Given the description of an element on the screen output the (x, y) to click on. 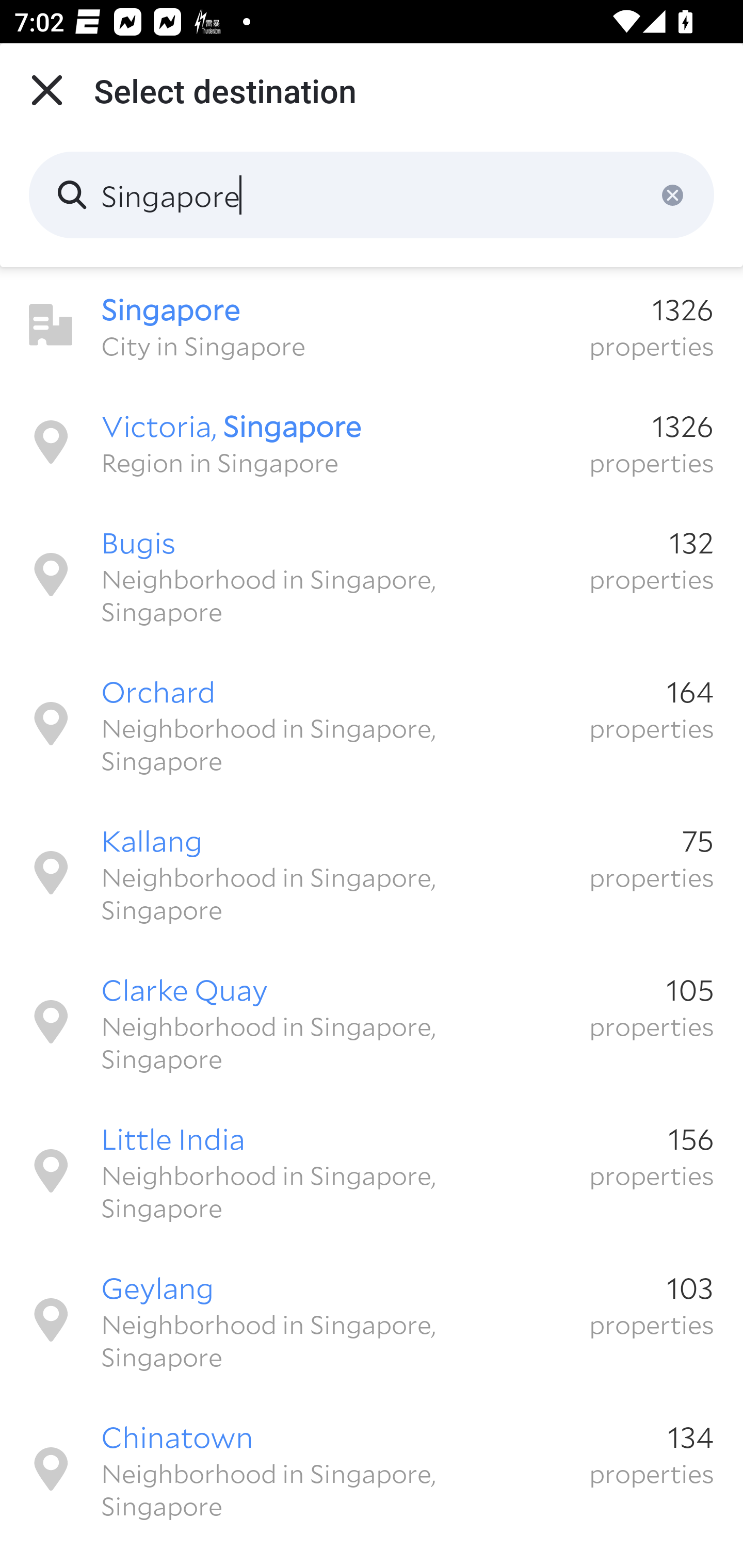
Singapore (371, 195)
Singapore 1326 City in Singapore properties (371, 325)
